Given the description of an element on the screen output the (x, y) to click on. 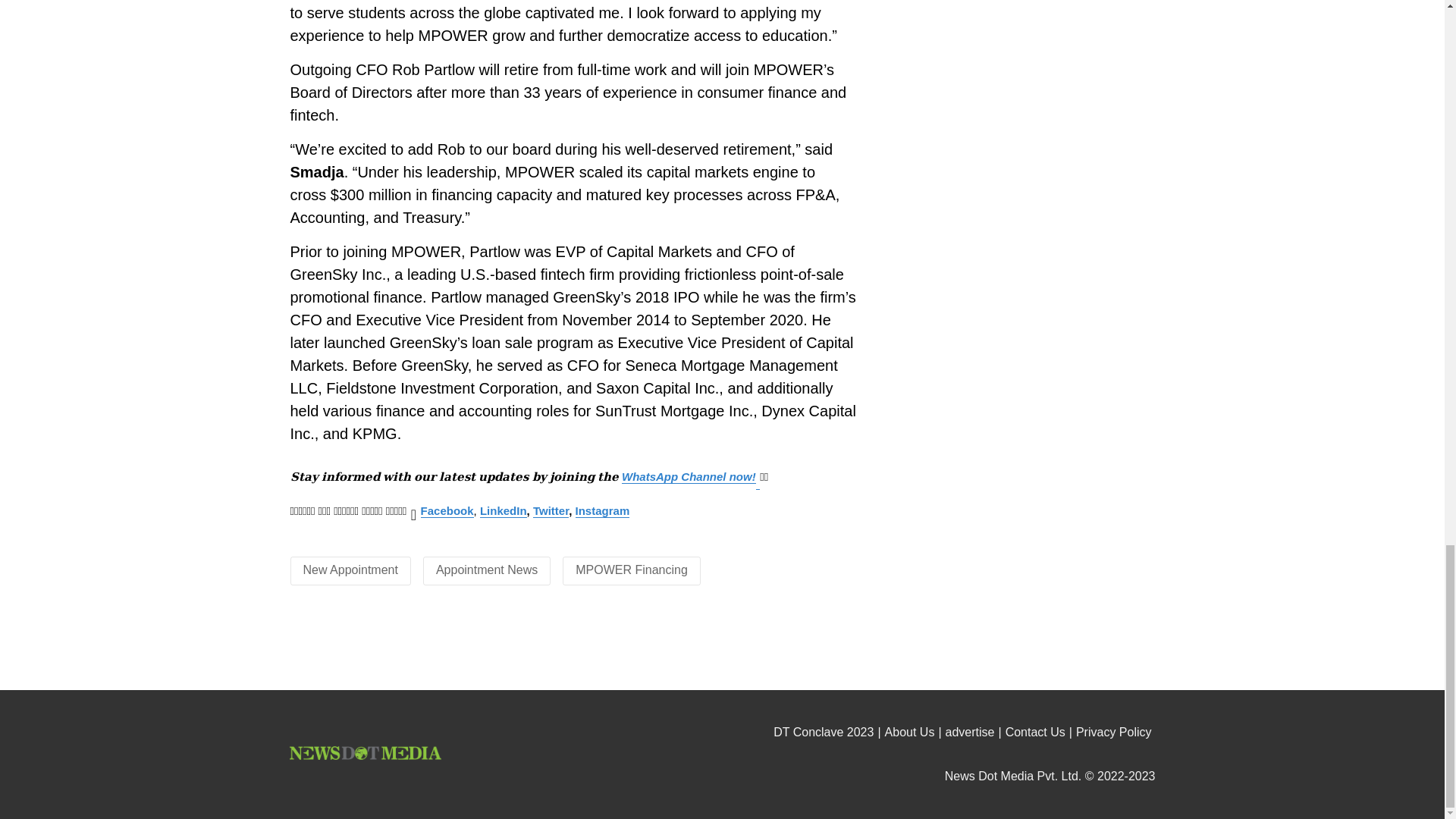
3rd party ad content (722, 649)
Facebook (447, 510)
LinkedIn (503, 510)
Twitter (550, 510)
New Appointment (349, 569)
Instagram (602, 510)
WhatsApp Channel now! (688, 476)
3rd party ad content (1015, 315)
3rd party ad content (1015, 79)
Appointment News (486, 569)
